Given the description of an element on the screen output the (x, y) to click on. 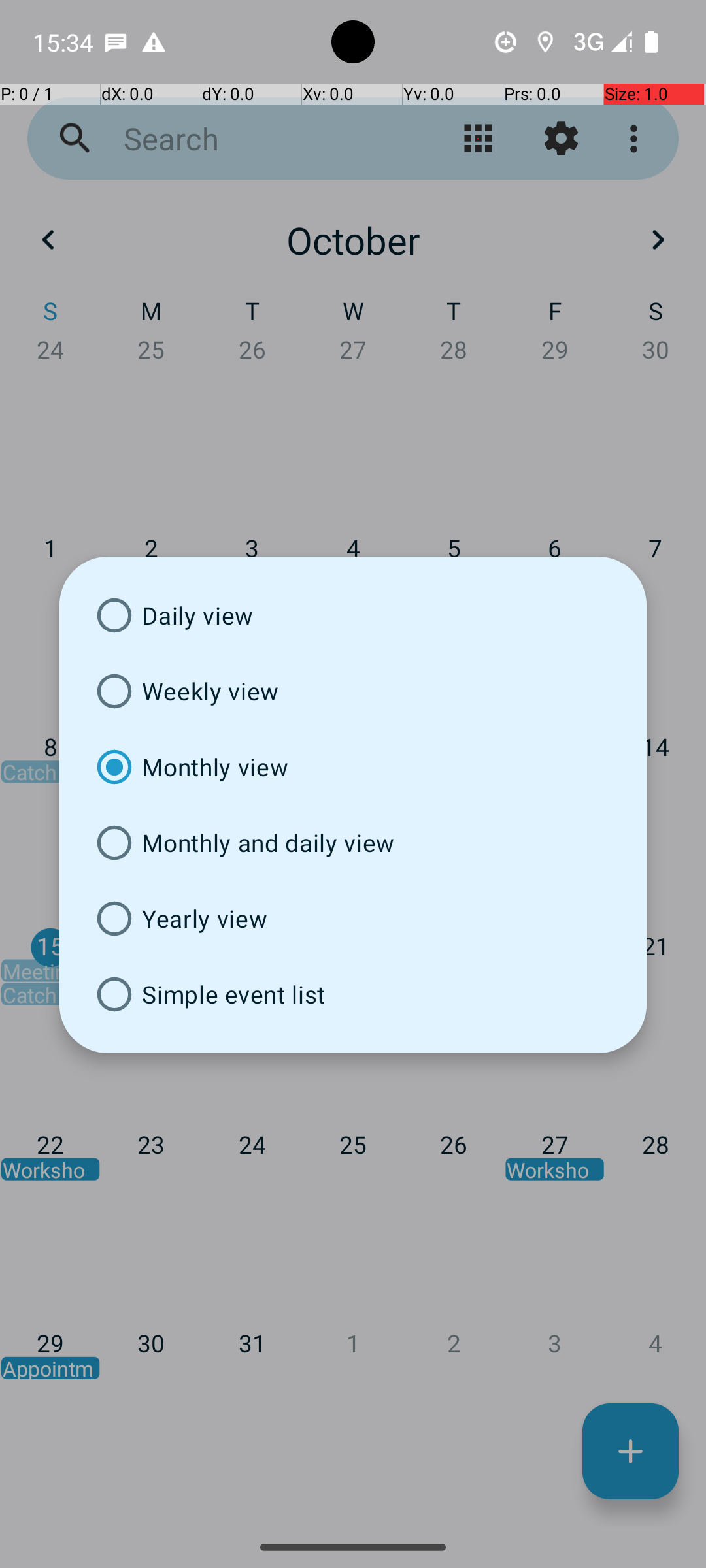
Daily view Element type: android.widget.RadioButton (352, 615)
Weekly view Element type: android.widget.RadioButton (352, 691)
Monthly view Element type: android.widget.RadioButton (352, 766)
Monthly and daily view Element type: android.widget.RadioButton (352, 842)
Yearly view Element type: android.widget.RadioButton (352, 918)
Simple event list Element type: android.widget.RadioButton (352, 994)
